Given the description of an element on the screen output the (x, y) to click on. 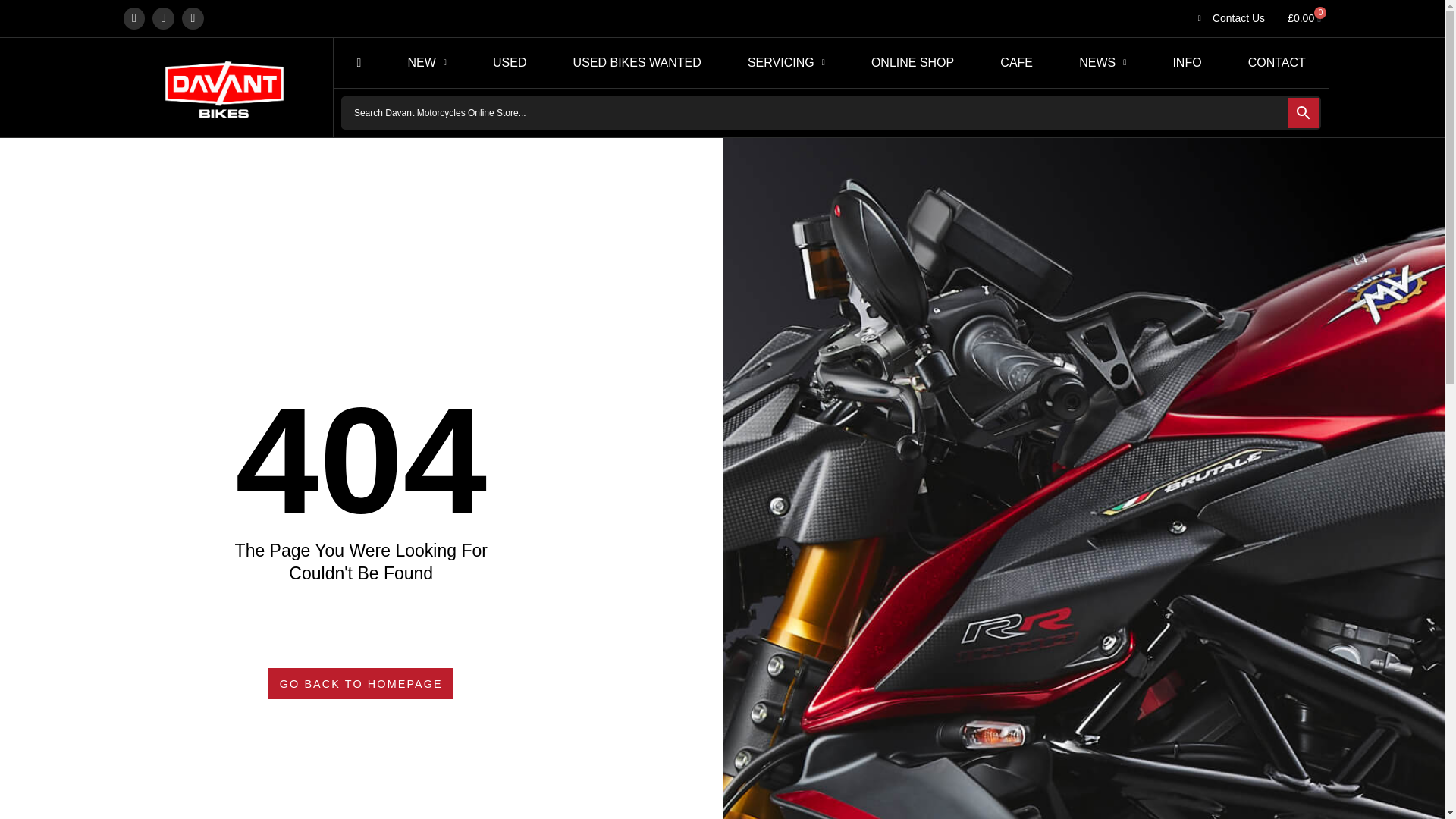
USED BIKES WANTED (636, 62)
INFO (1187, 62)
NEW (427, 62)
CAFE (1016, 62)
USED (509, 62)
ONLINE SHOP (912, 62)
SERVICING (786, 62)
NEWS (1102, 62)
Contact Us (1228, 17)
CONTACT (1275, 62)
